Given the description of an element on the screen output the (x, y) to click on. 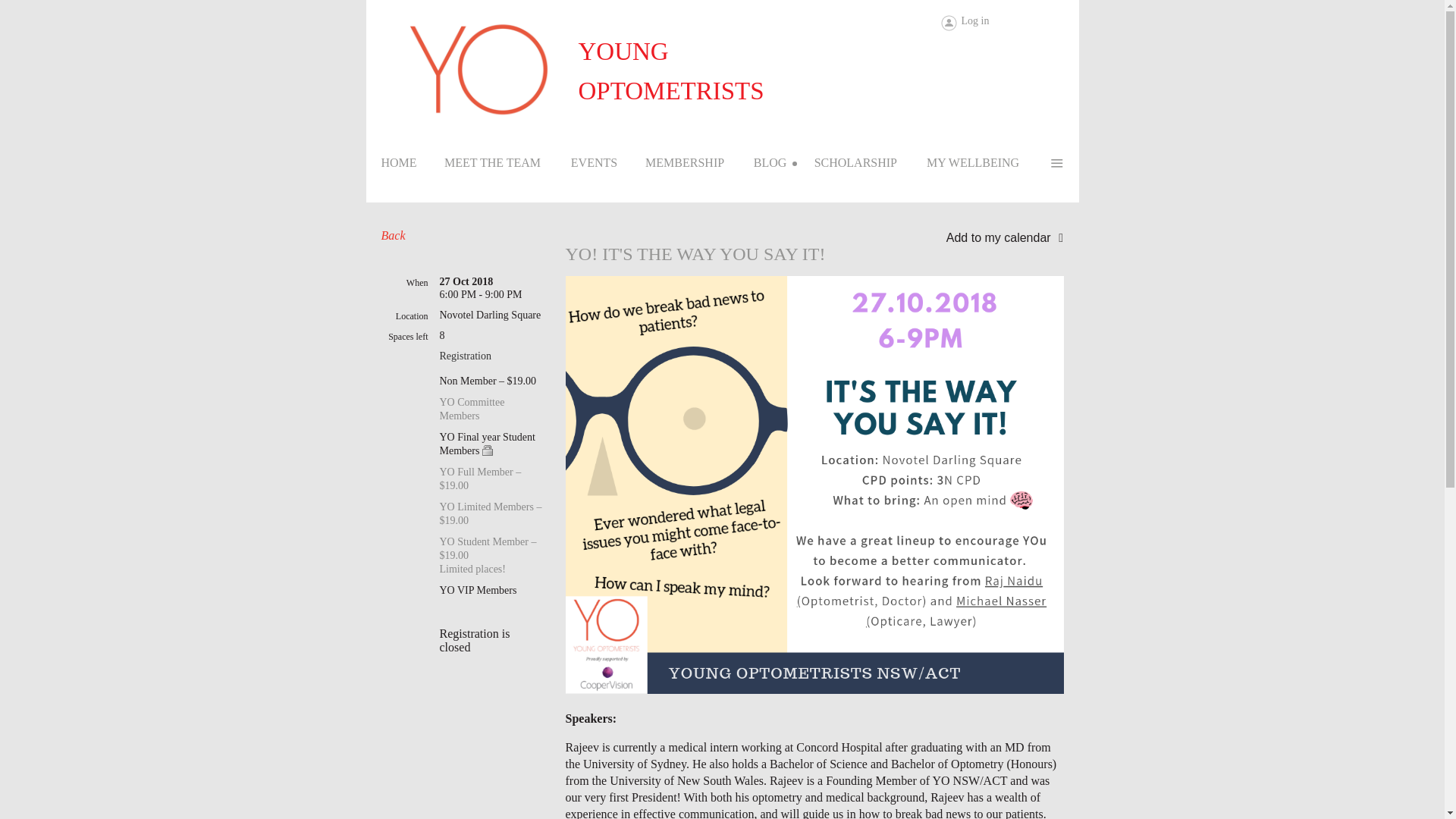
Home (410, 166)
Log in (965, 23)
MEMBERSHIP (697, 166)
Membership (697, 166)
SCHOLARSHIP (867, 166)
Meet the Team (505, 166)
Blog (783, 166)
MEET THE TEAM (505, 166)
Back (392, 235)
SCHOLARSHIP (867, 166)
